Given the description of an element on the screen output the (x, y) to click on. 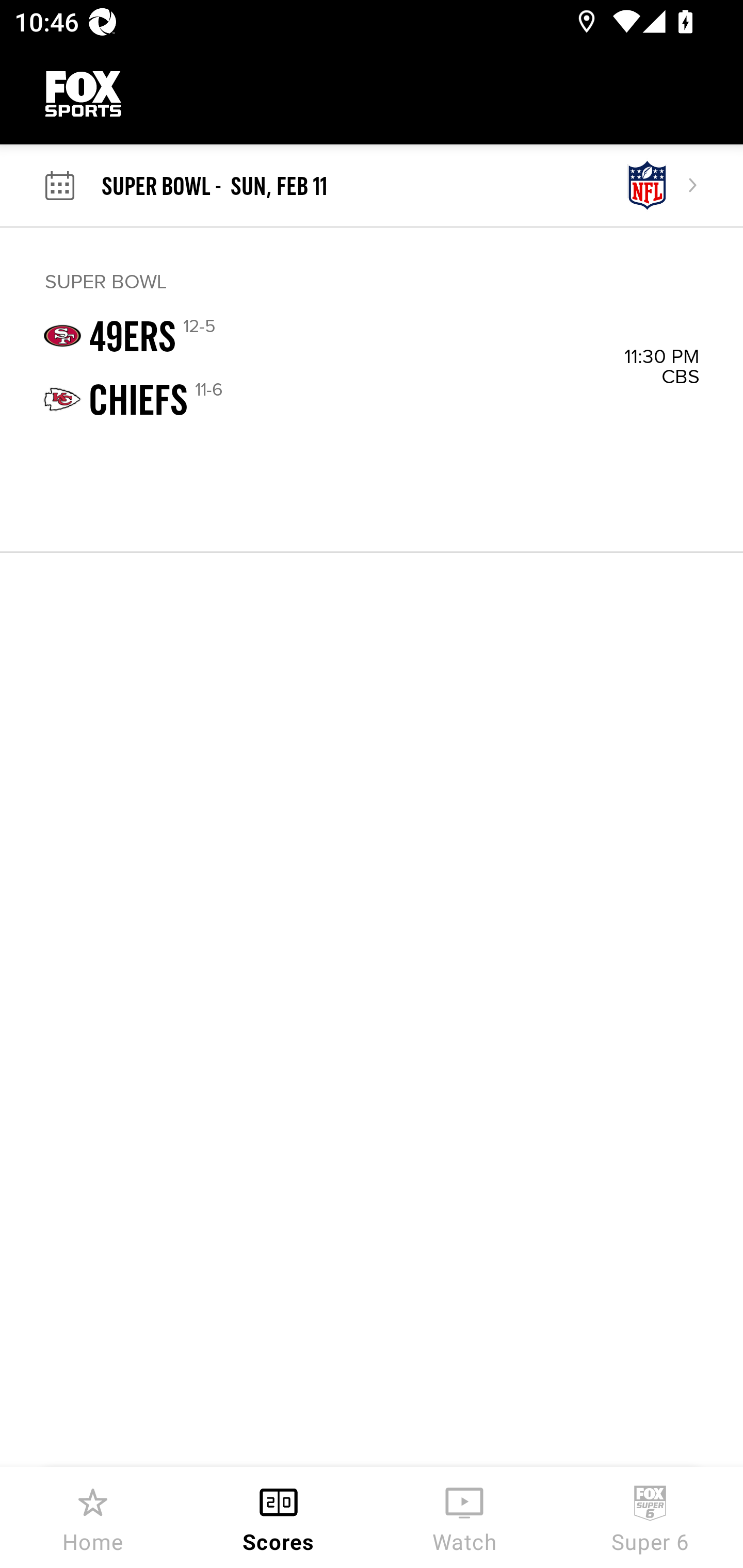
SUPER BOWL -  SUN, FEB 11 (360, 185)
SUPER BOWL 49ERS 12-5 11:30 PM CHIEFS 11-6 CBS (371, 389)
Home (92, 1517)
Watch (464, 1517)
Super 6 (650, 1517)
